Given the description of an element on the screen output the (x, y) to click on. 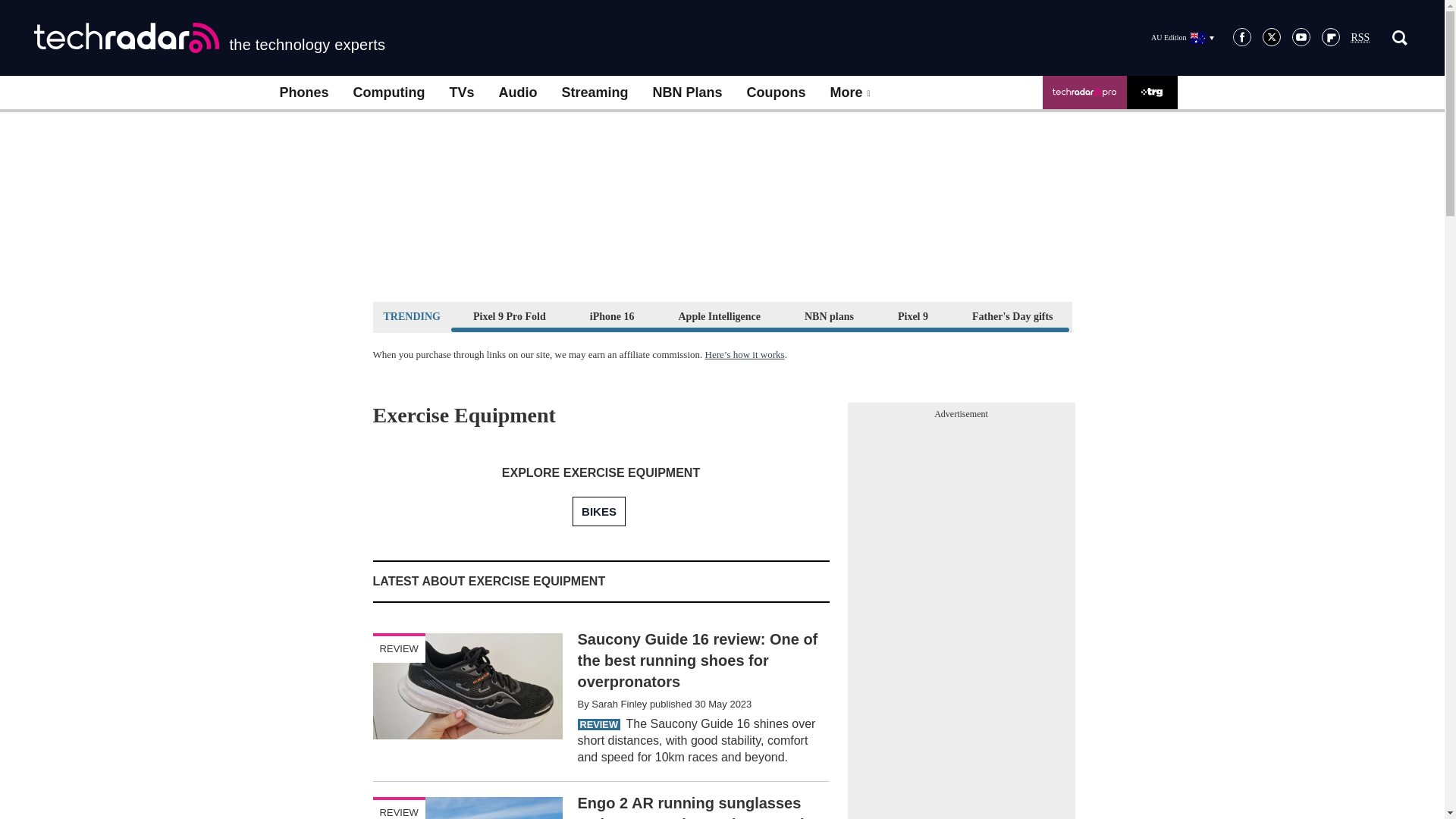
the technology experts (209, 38)
Really Simple Syndication (1360, 37)
NBN Plans (687, 92)
Audio (518, 92)
Phones (303, 92)
Computing (389, 92)
Coupons (776, 92)
Streaming (595, 92)
TVs (461, 92)
AU Edition (1181, 37)
